Given the description of an element on the screen output the (x, y) to click on. 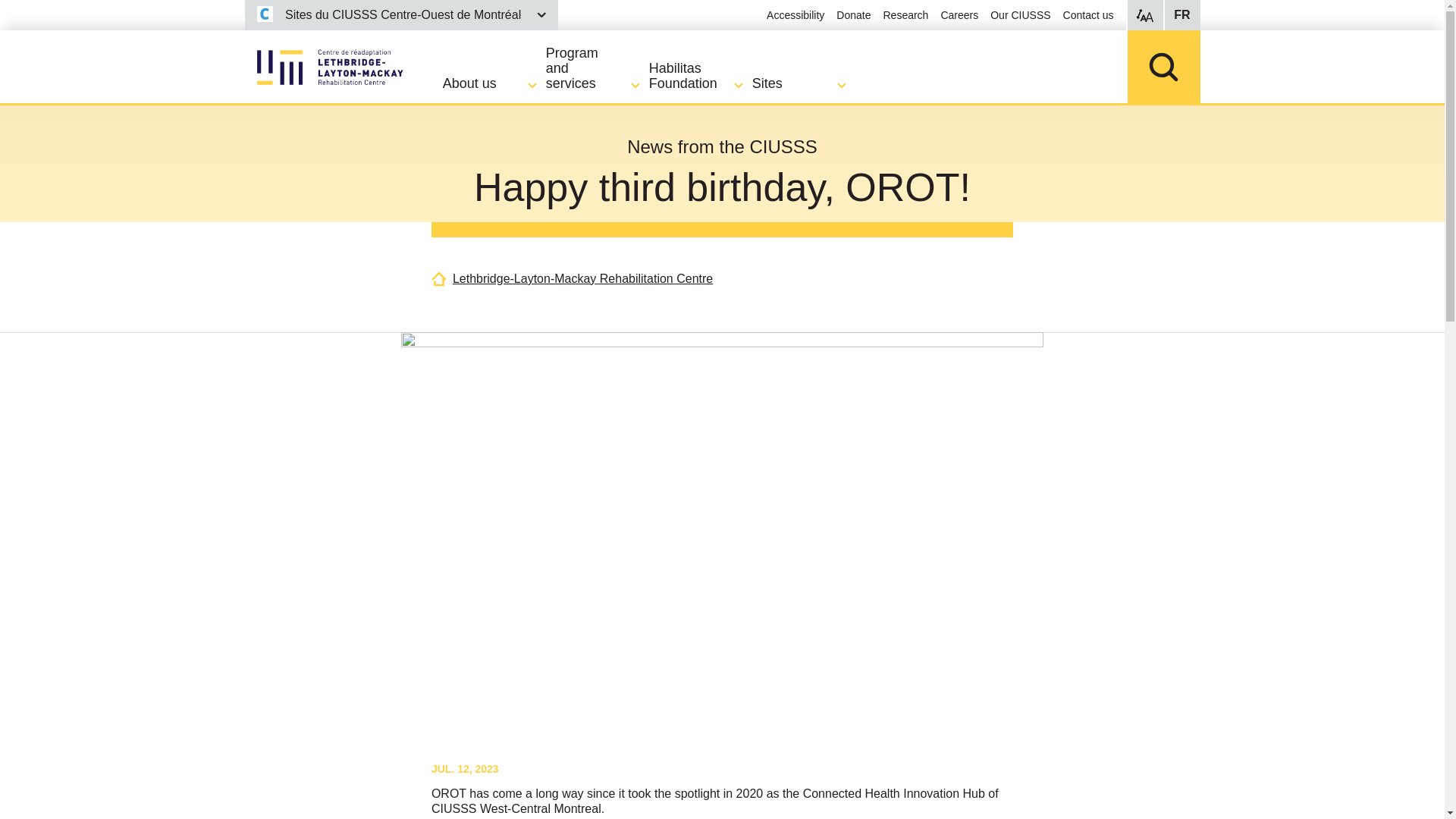
FR (1181, 15)
About us (494, 83)
